Given the description of an element on the screen output the (x, y) to click on. 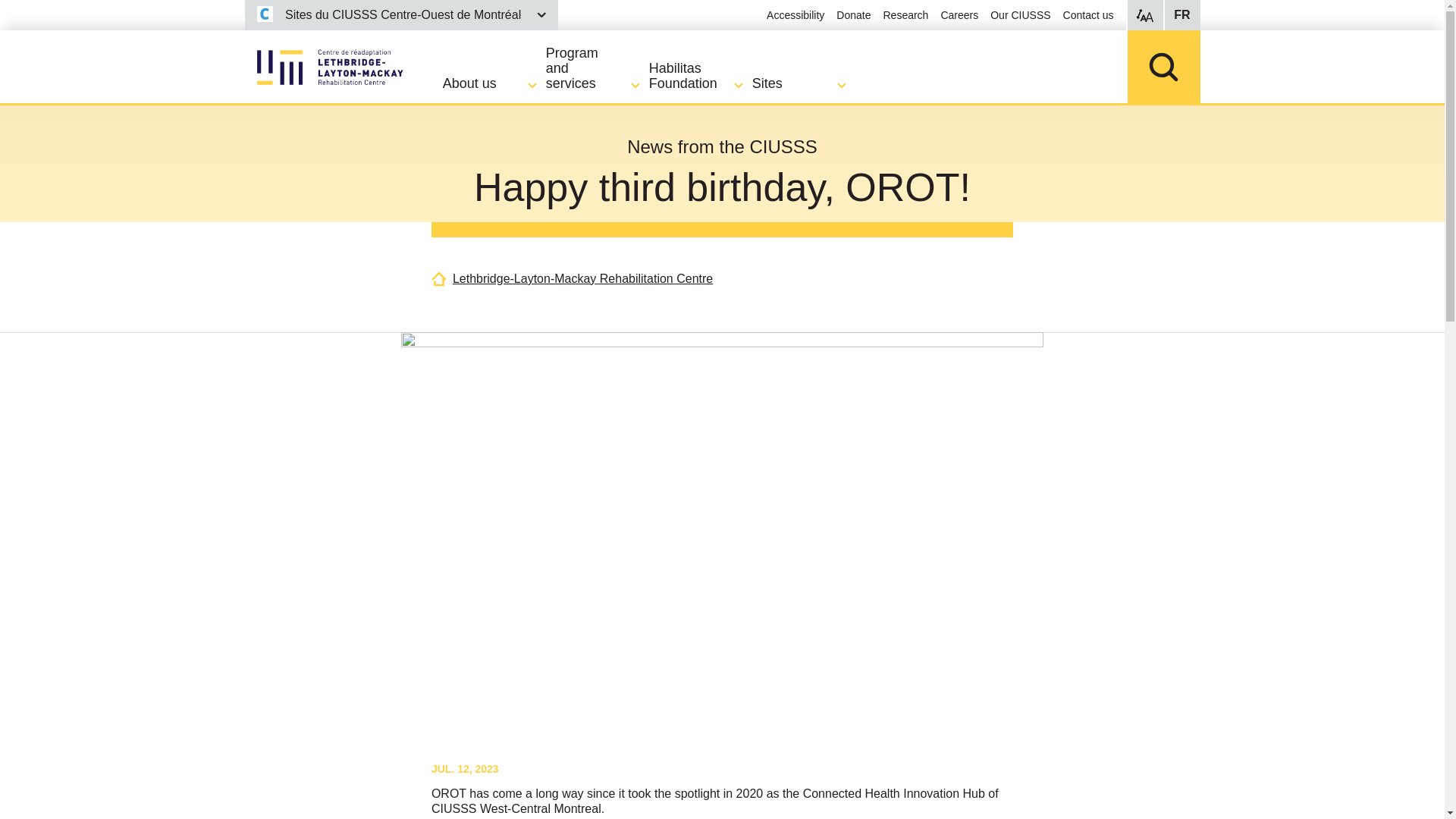
FR (1181, 15)
About us (494, 83)
